Given the description of an element on the screen output the (x, y) to click on. 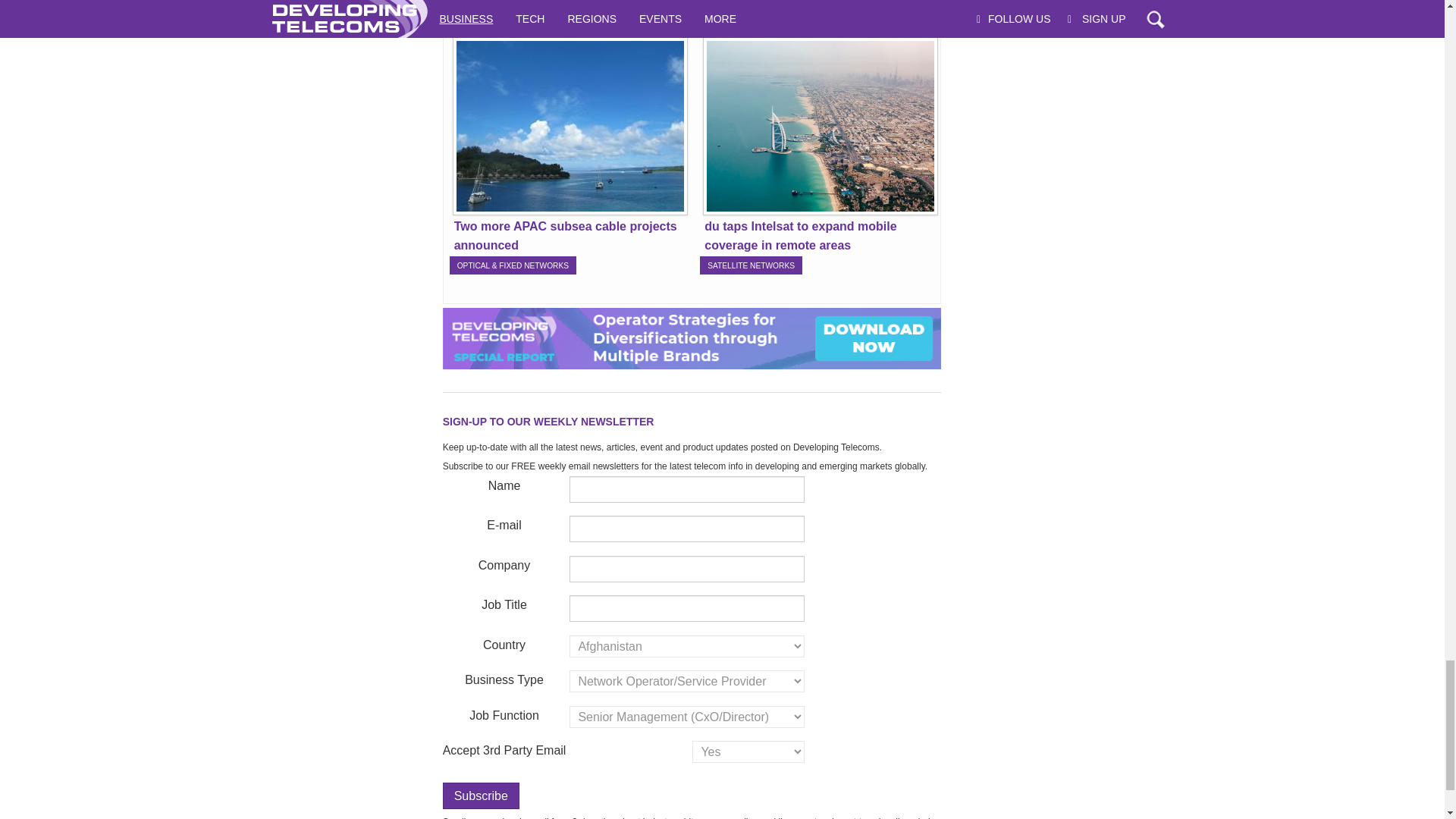
Subscribe (480, 795)
